Given the description of an element on the screen output the (x, y) to click on. 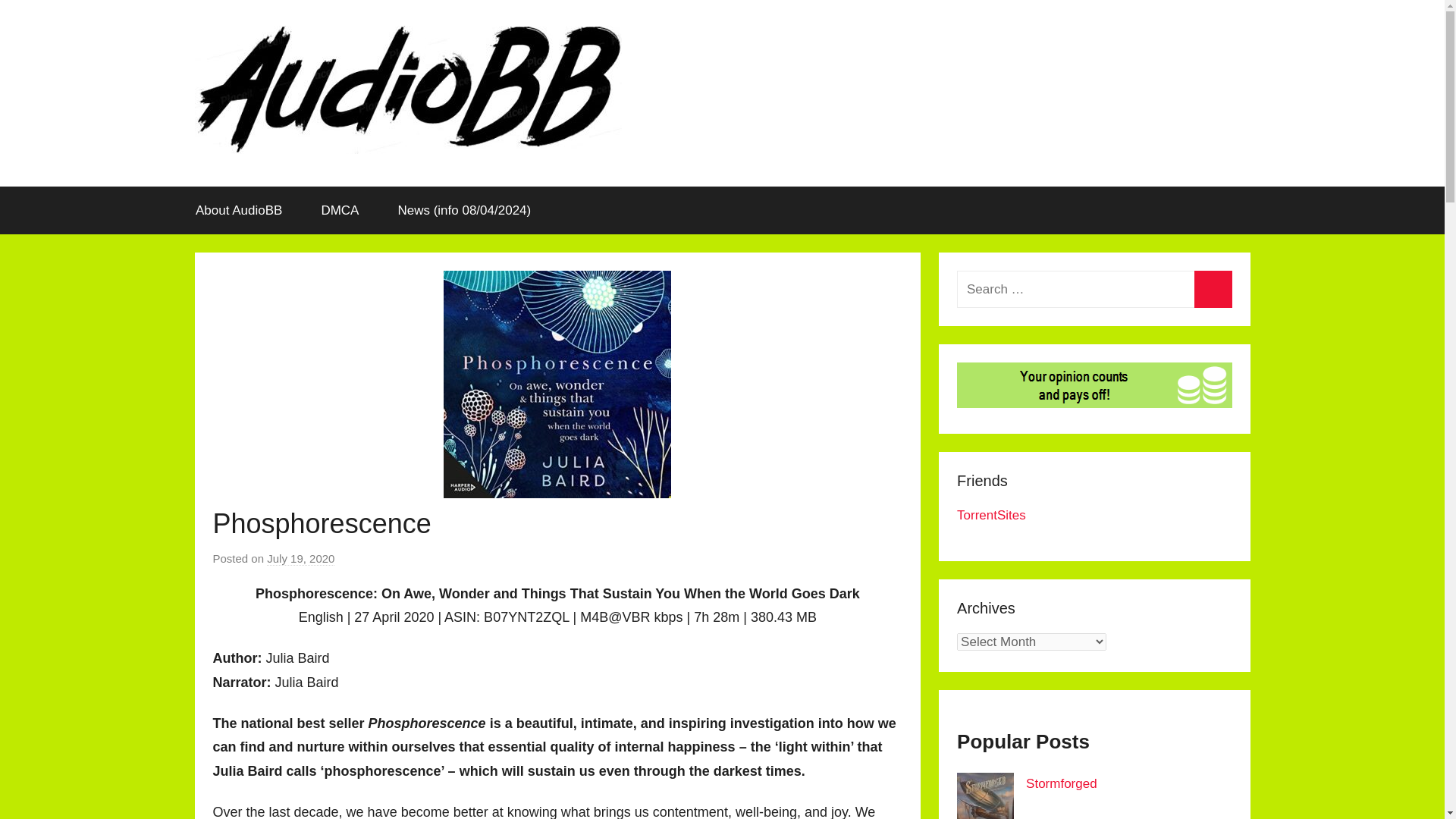
Search for: (1093, 289)
Stormforged (1061, 783)
TorrentSites (991, 514)
July 19, 2020 (300, 558)
About AudioBB (238, 210)
Search (1212, 289)
DMCA (339, 210)
